Given the description of an element on the screen output the (x, y) to click on. 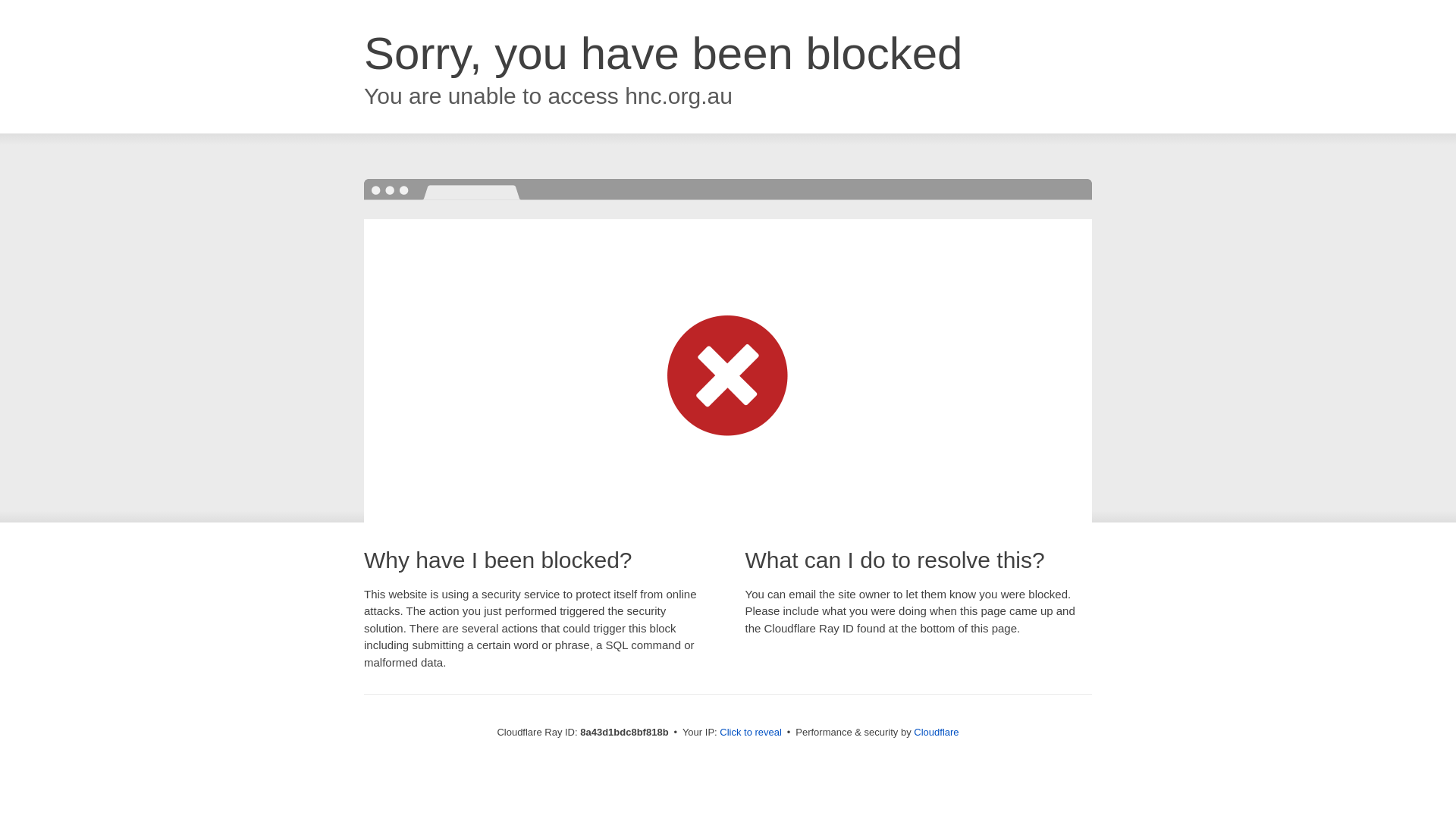
Click to reveal (750, 732)
Cloudflare (936, 731)
